Given the description of an element on the screen output the (x, y) to click on. 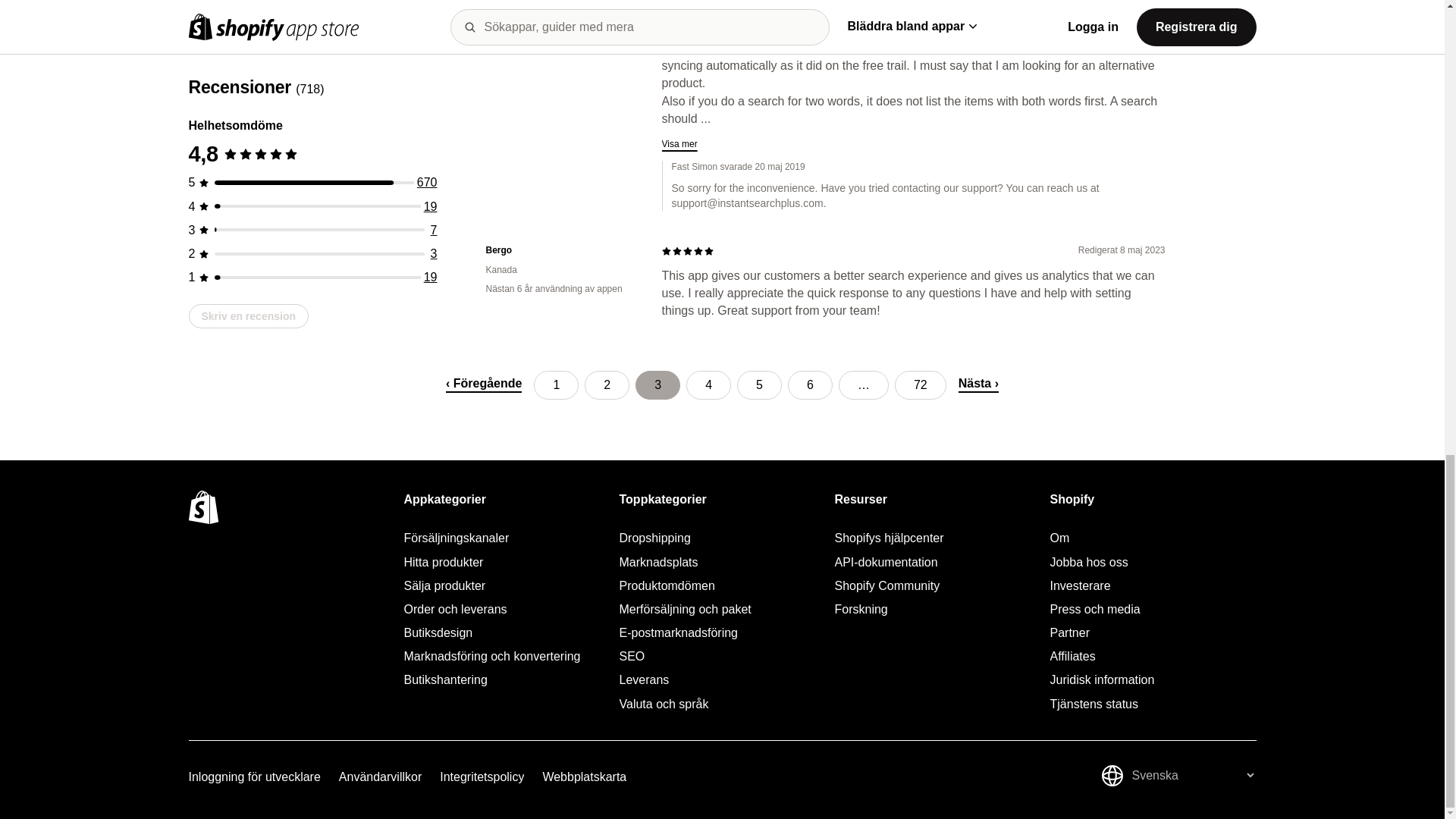
Bergo (560, 250)
Myperfumeshop Test (560, 6)
